Given the description of an element on the screen output the (x, y) to click on. 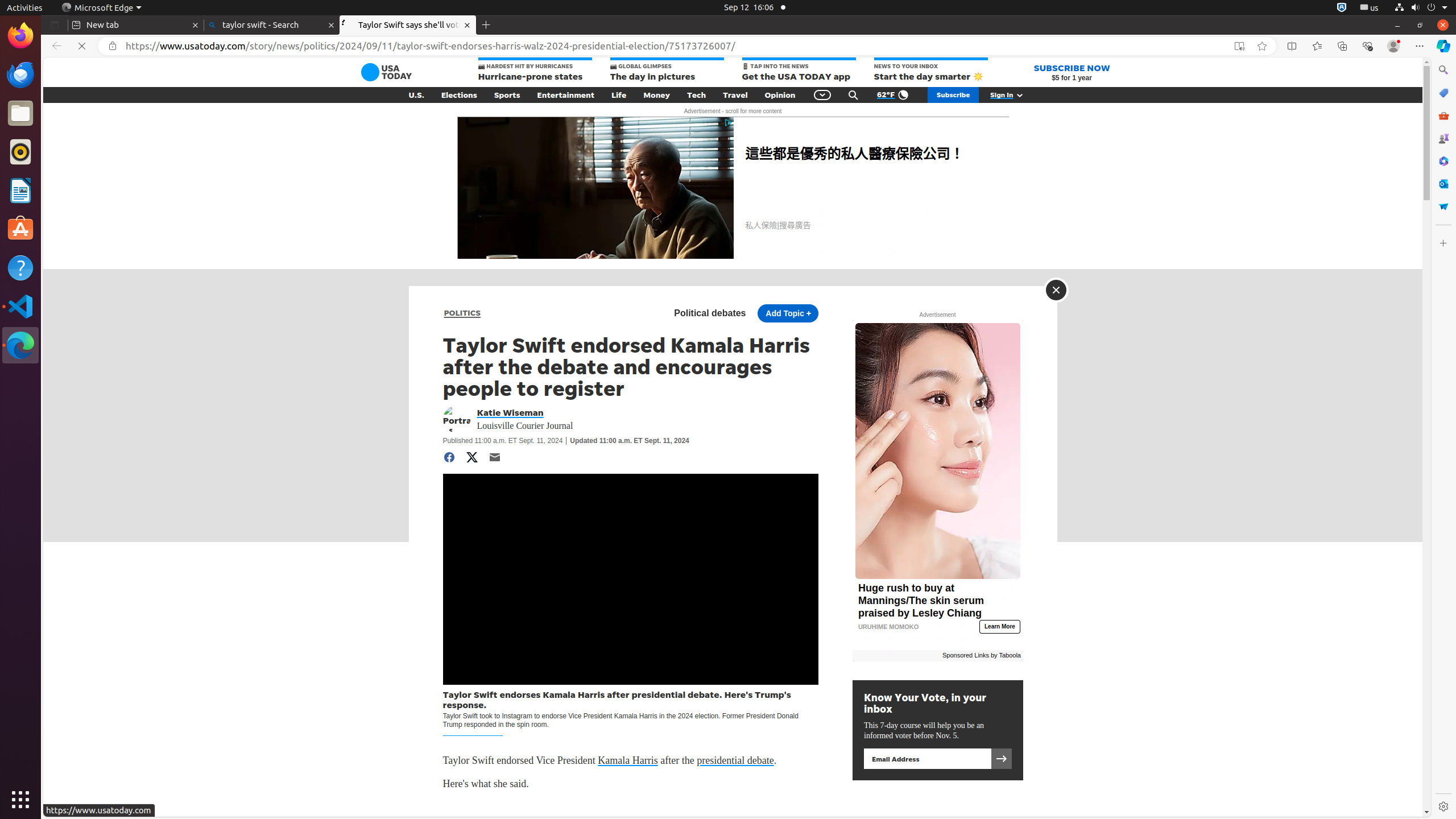
Close tab Element type: push-button (195, 25)
Thunderbird Mail Element type: push-button (20, 74)
Show Applications Element type: toggle-button (20, 799)
Global Navigation Element type: push-button (822, 94)
Split screen Element type: push-button (1291, 45)
